Given the description of an element on the screen output the (x, y) to click on. 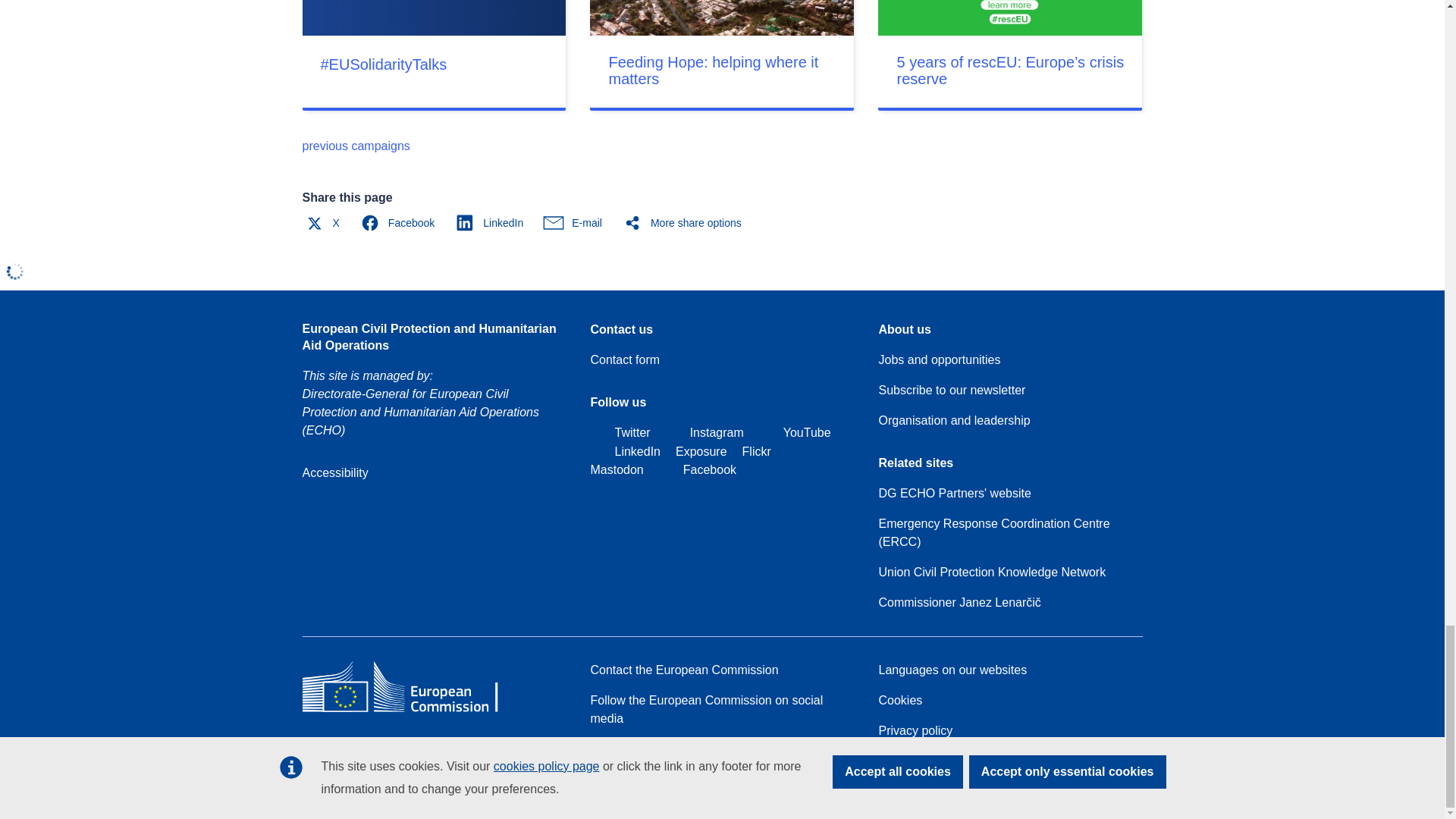
European Commission (411, 711)
